Given the description of an element on the screen output the (x, y) to click on. 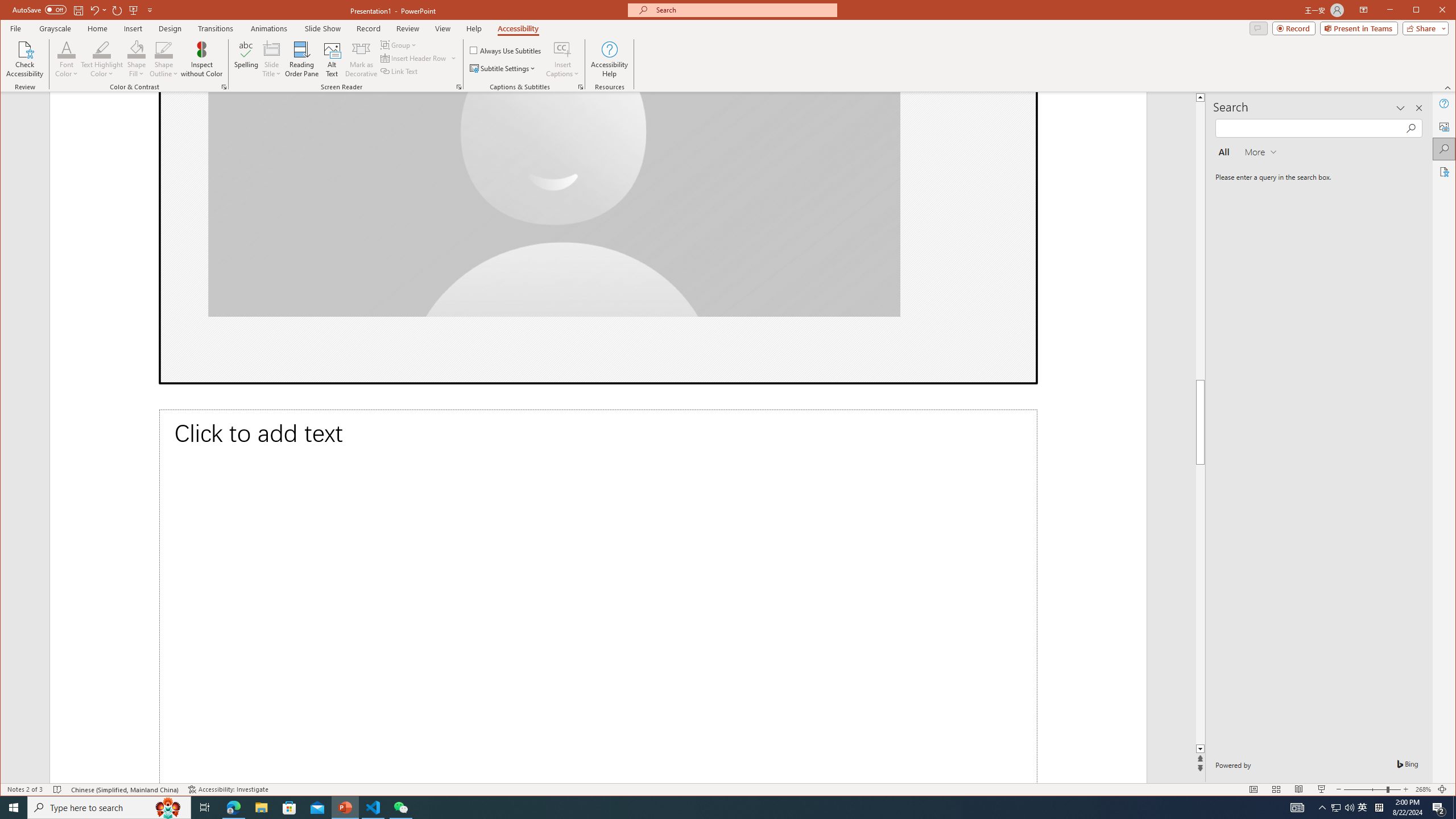
Mark as Decorative (360, 59)
Always Use Subtitles (505, 49)
Inspect without Color (201, 59)
